Given the description of an element on the screen output the (x, y) to click on. 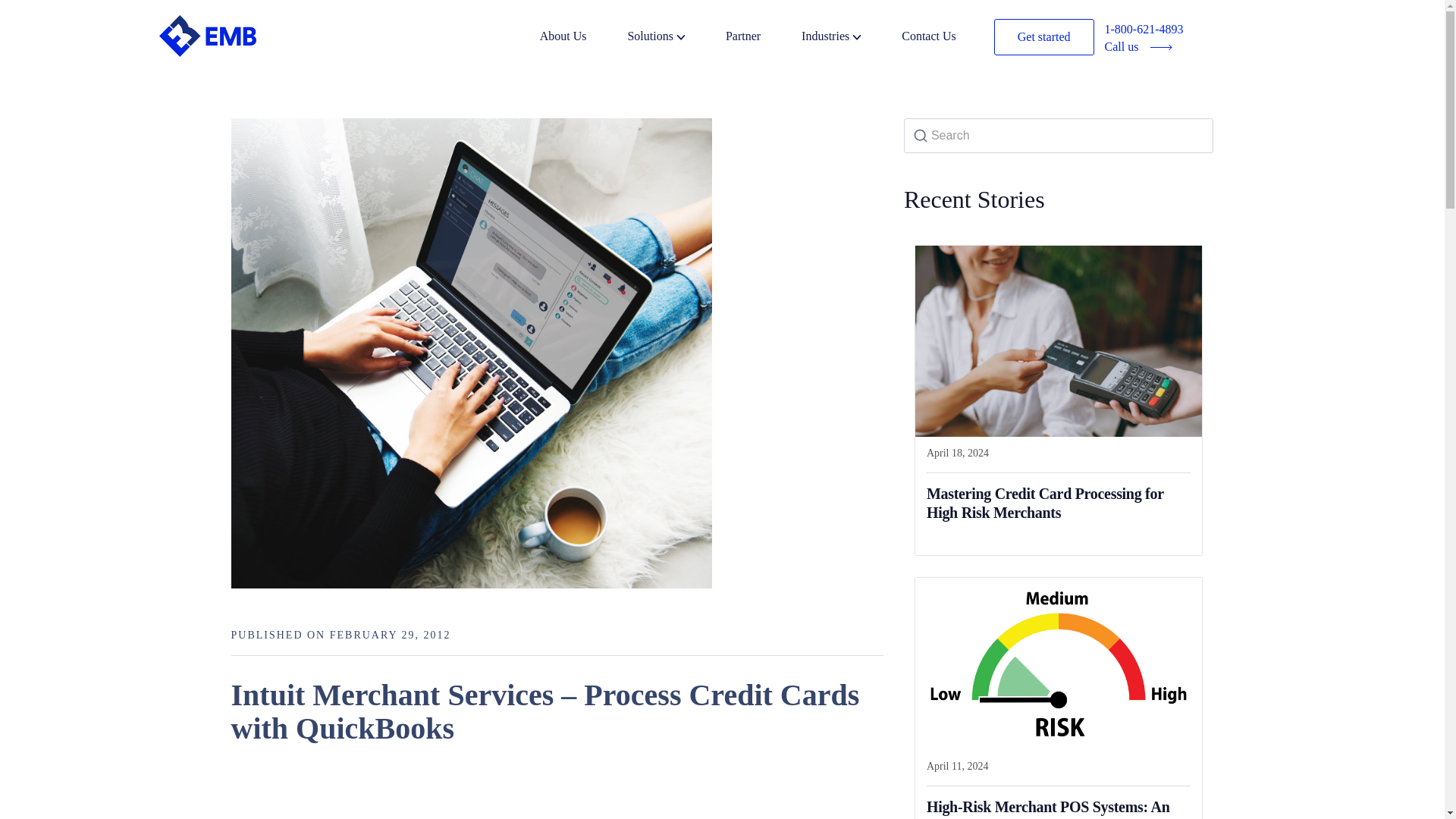
About Us (582, 37)
Partner (761, 37)
Industries (850, 37)
Solutions (674, 37)
